Given the description of an element on the screen output the (x, y) to click on. 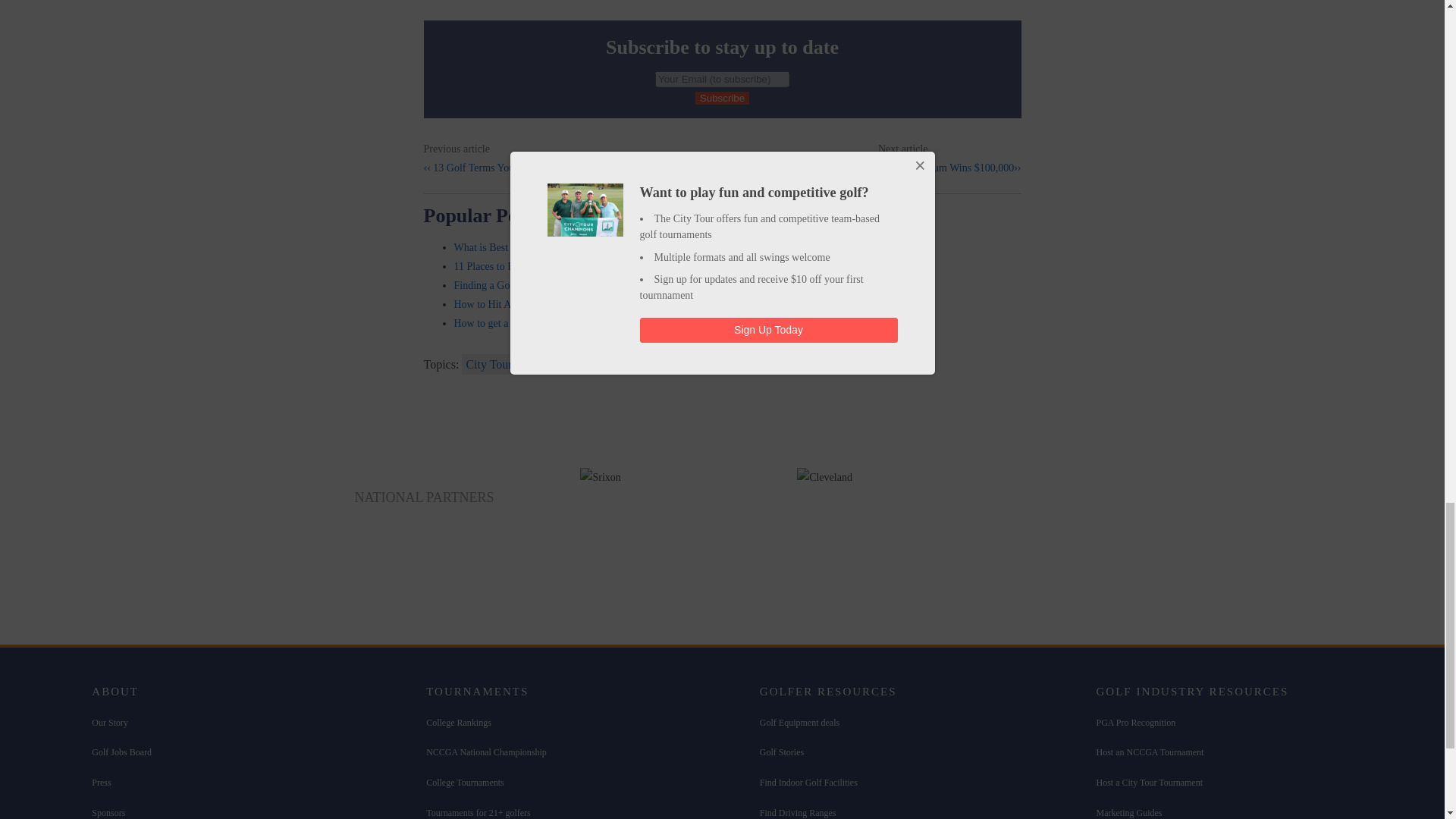
City Tour (488, 363)
Subscribe (722, 97)
How to Hit ANY Bunker Shot (516, 304)
Finding a Golf Demo Day (508, 285)
11 Places to Buy and Sell Used Golf Clubs (544, 266)
ABOUT (114, 691)
13 Golf Terms You May Not Know (503, 167)
Subscribe (722, 97)
What is Best Ball Golf v. Scramble? (529, 247)
